Given the description of an element on the screen output the (x, y) to click on. 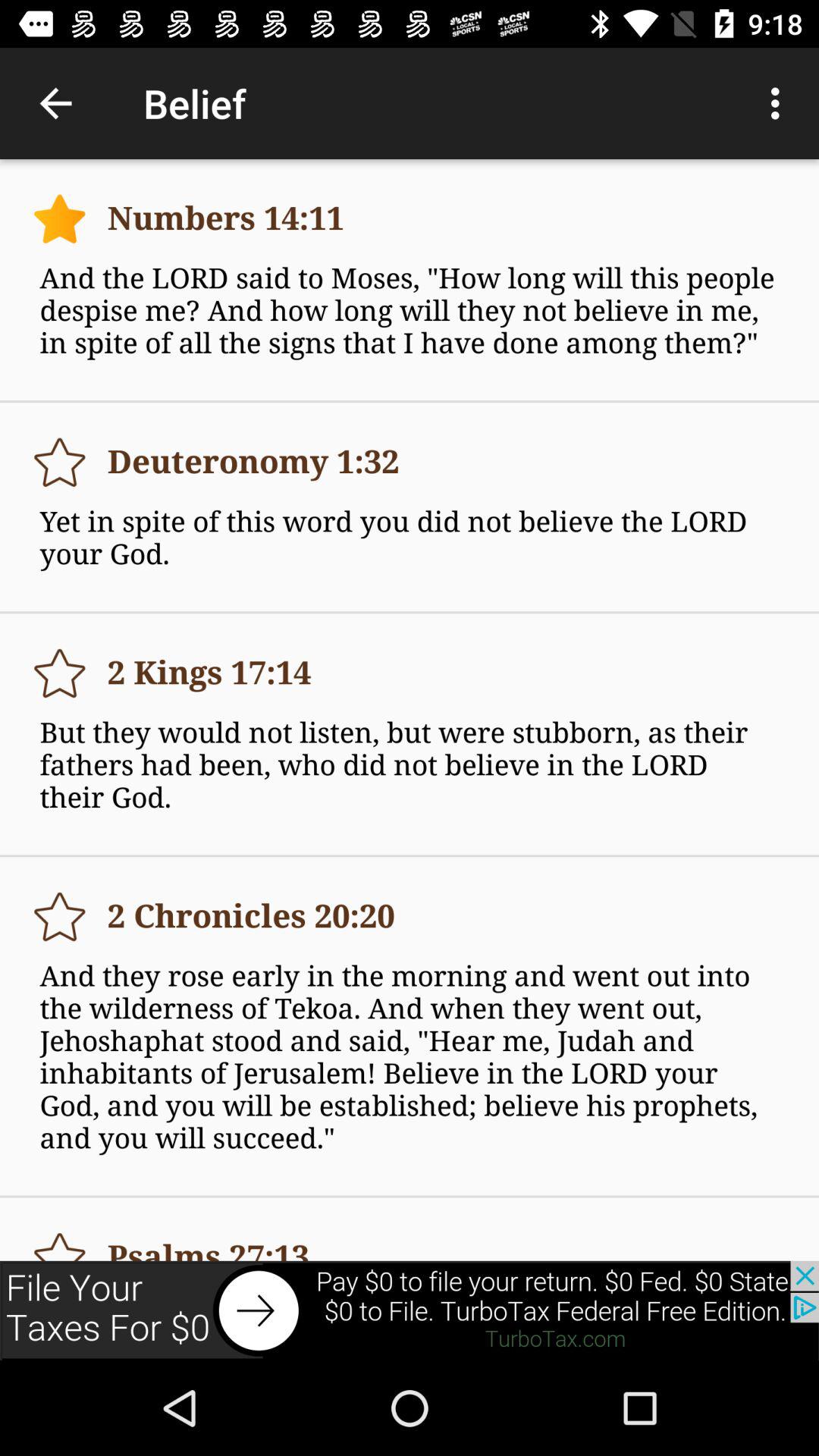
favorite button (59, 1238)
